Given the description of an element on the screen output the (x, y) to click on. 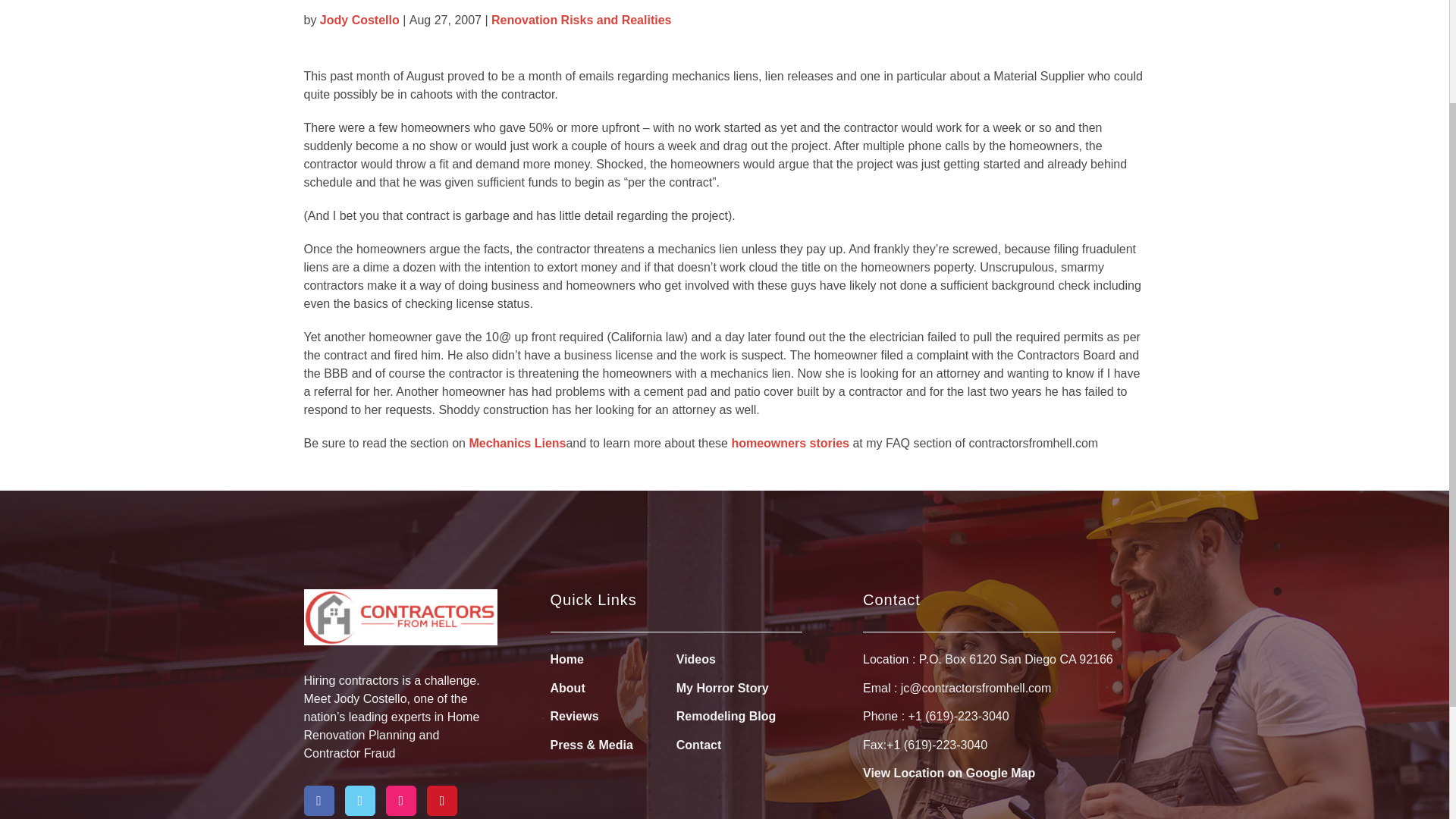
Reviews (574, 716)
Contact (699, 744)
homeowners stories (789, 443)
Remodeling Blog (726, 716)
Jody Costello (359, 20)
My Horror Story (722, 688)
Mechanics Liens (517, 443)
About (567, 688)
Posts by Jody Costello (359, 20)
Videos (696, 660)
